Given the description of an element on the screen output the (x, y) to click on. 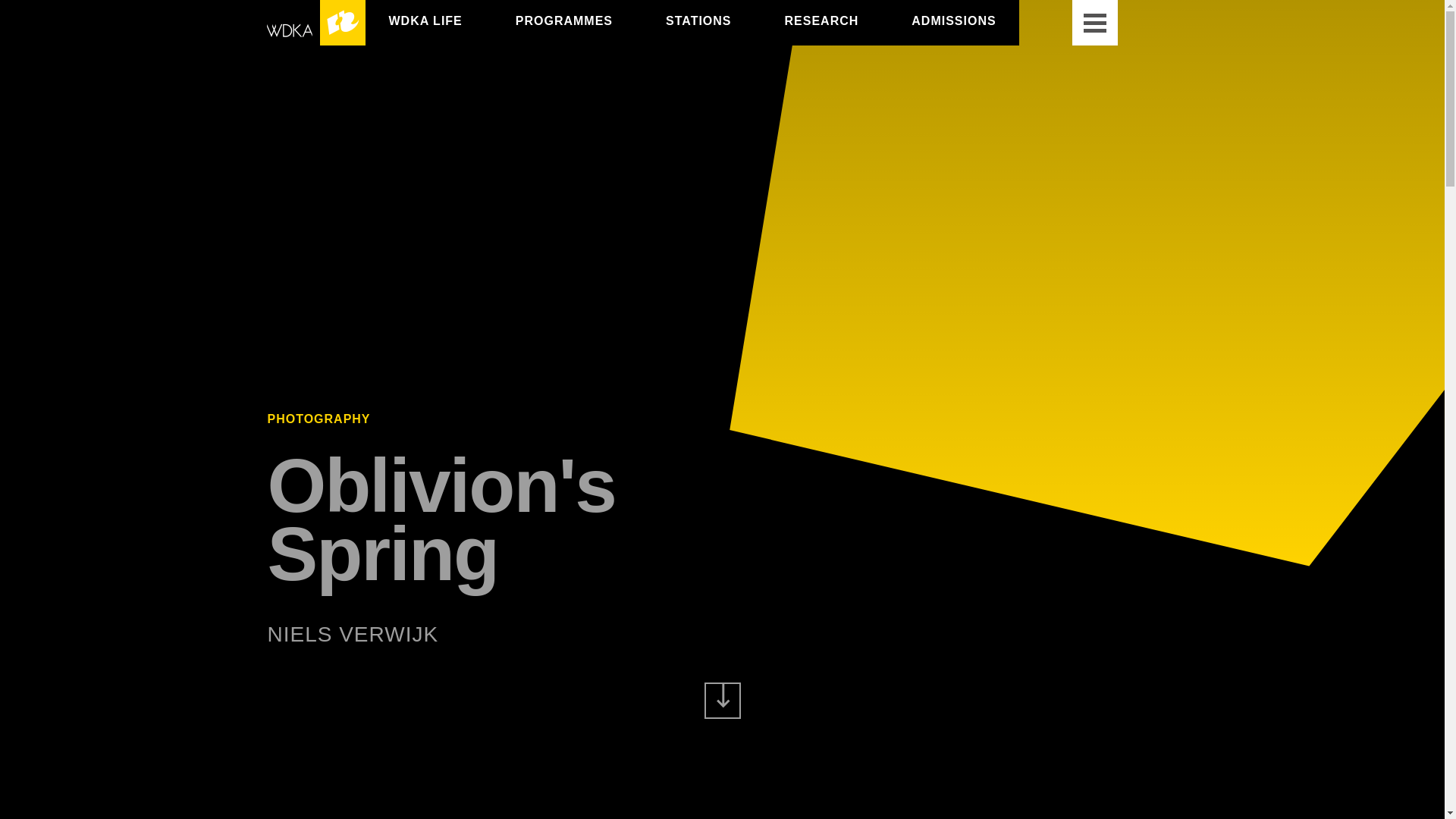
Admissions (953, 20)
Stations (698, 20)
Programmes (563, 20)
WDKA LIFE (424, 20)
PROGRAMMES (563, 20)
RESEARCH (821, 20)
Willem de Kooning Academie Homepage (315, 22)
Willem de Kooning Academie (315, 22)
Research (821, 20)
WdKA Life (424, 20)
PHOTOGRAPHY (317, 419)
STATIONS (698, 20)
ADMISSIONS (953, 20)
